Given the description of an element on the screen output the (x, y) to click on. 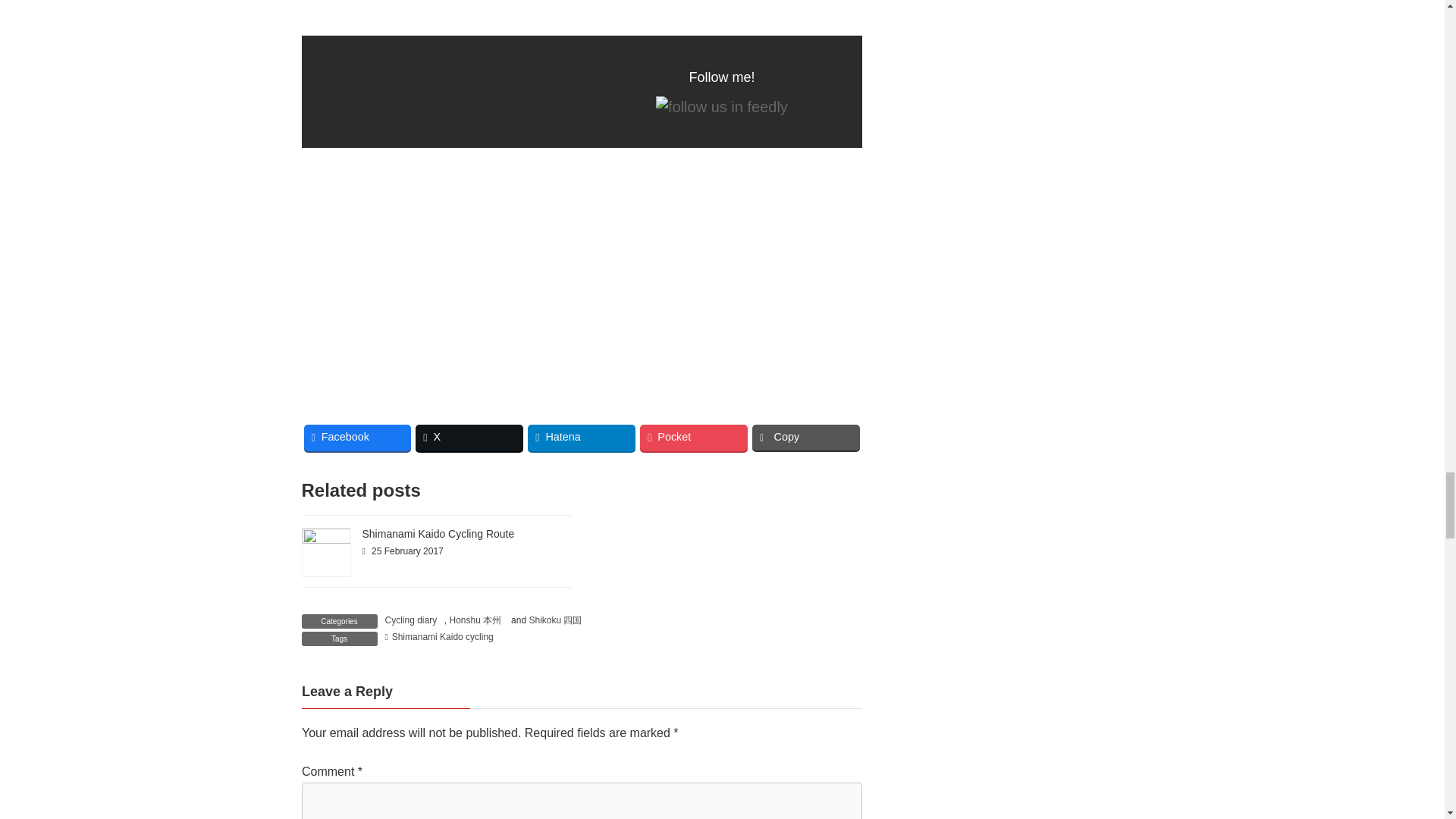
Shimanami Kaido cycling (439, 636)
Shimanami Kaido Cycling Route (438, 533)
Hatena (580, 437)
Cycling diary (411, 620)
X (468, 437)
Facebook (356, 437)
Search (1044, 784)
Copy (806, 437)
Pocket (694, 437)
